Given the description of an element on the screen output the (x, y) to click on. 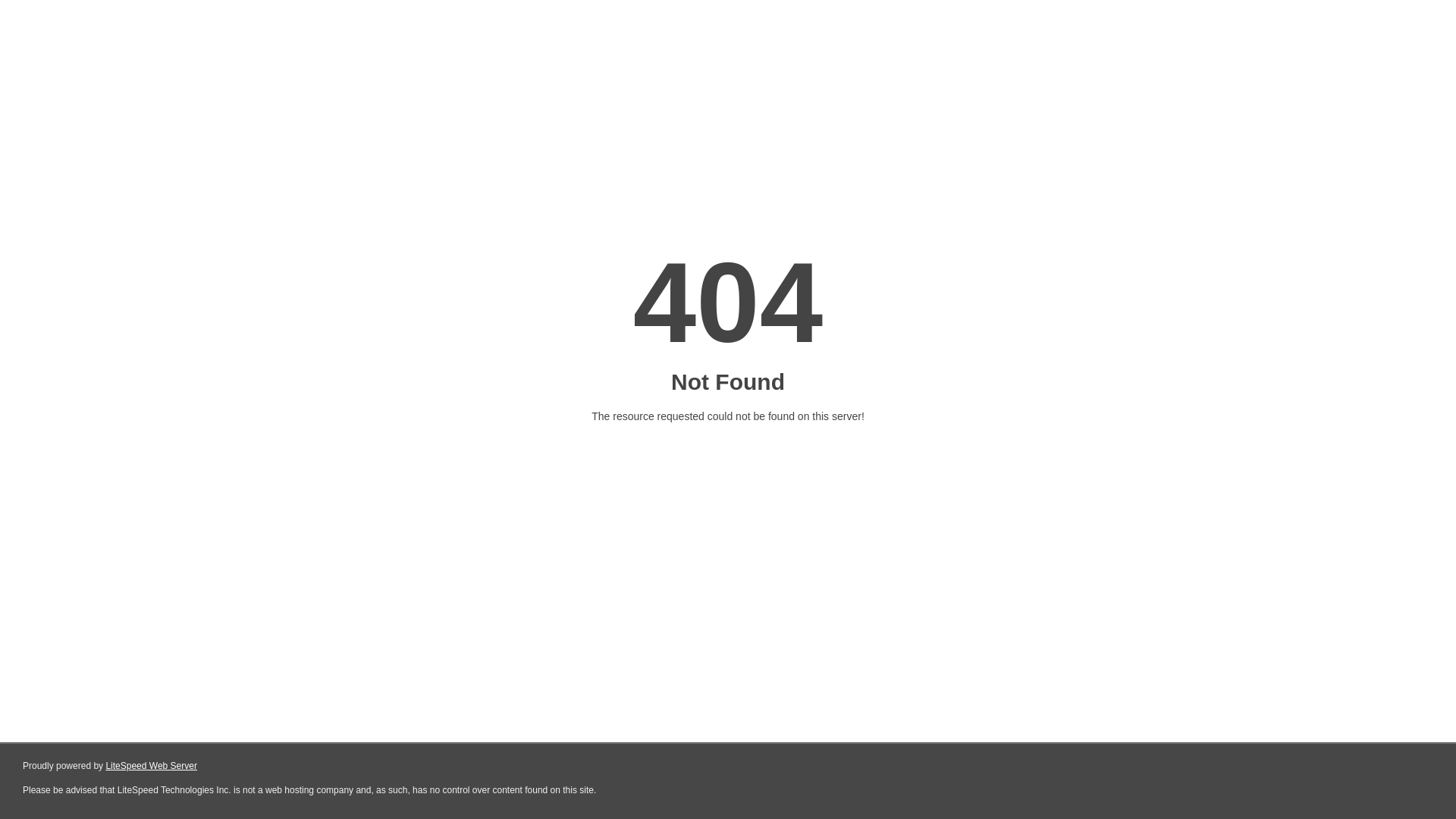
LiteSpeed Web Server Element type: text (151, 765)
